Given the description of an element on the screen output the (x, y) to click on. 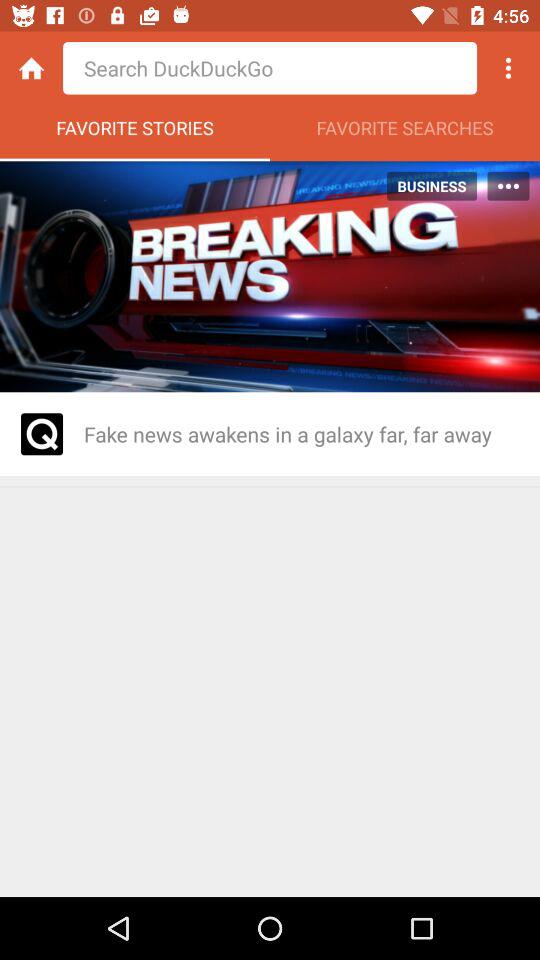
open browsing options (508, 68)
